Given the description of an element on the screen output the (x, y) to click on. 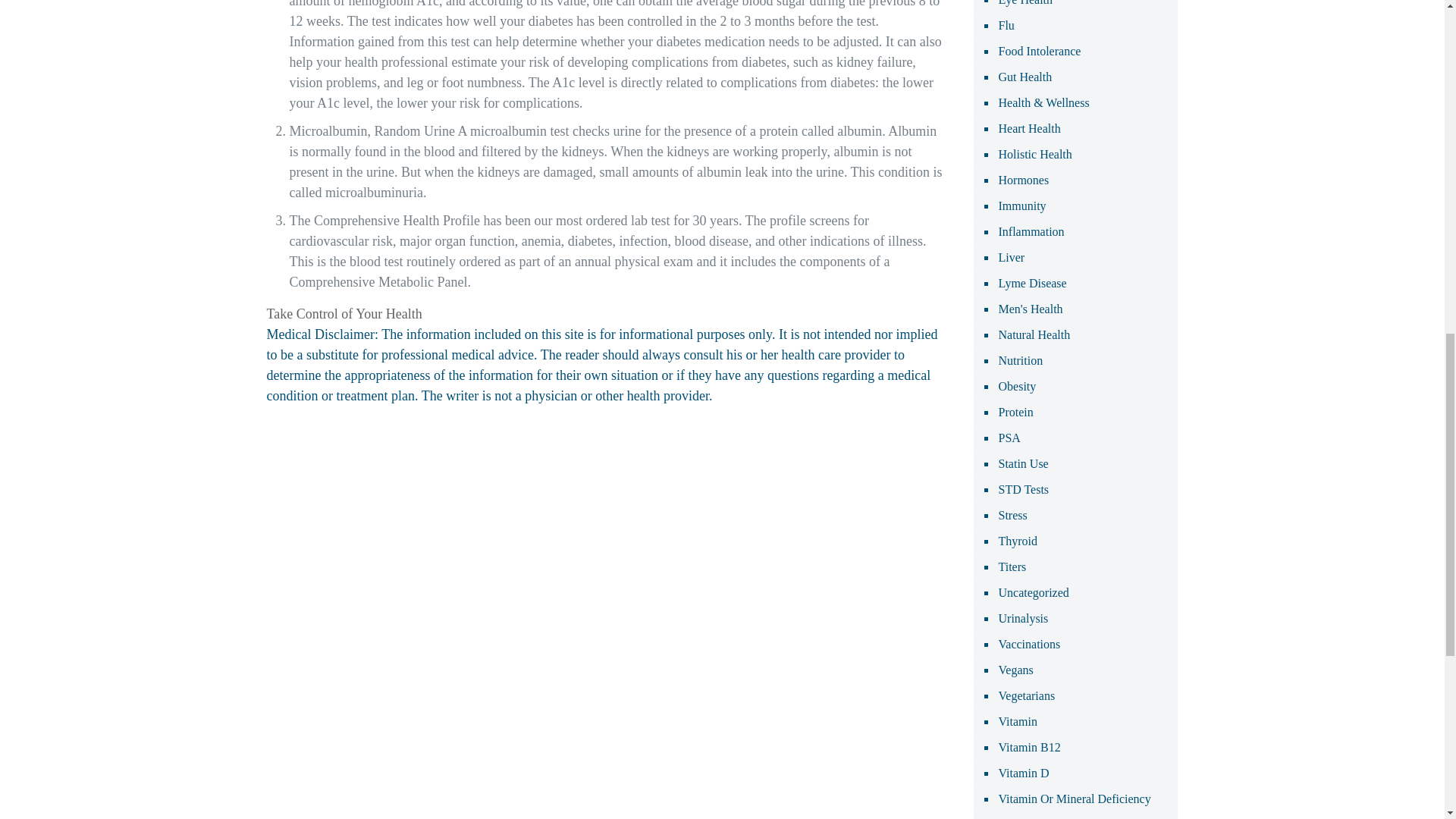
Hormones (1022, 180)
Food Intolerance (1038, 51)
Eye Health (1023, 6)
Heart Health (1028, 128)
Holistic Health (1033, 154)
Gut Health (1023, 77)
